Given the description of an element on the screen output the (x, y) to click on. 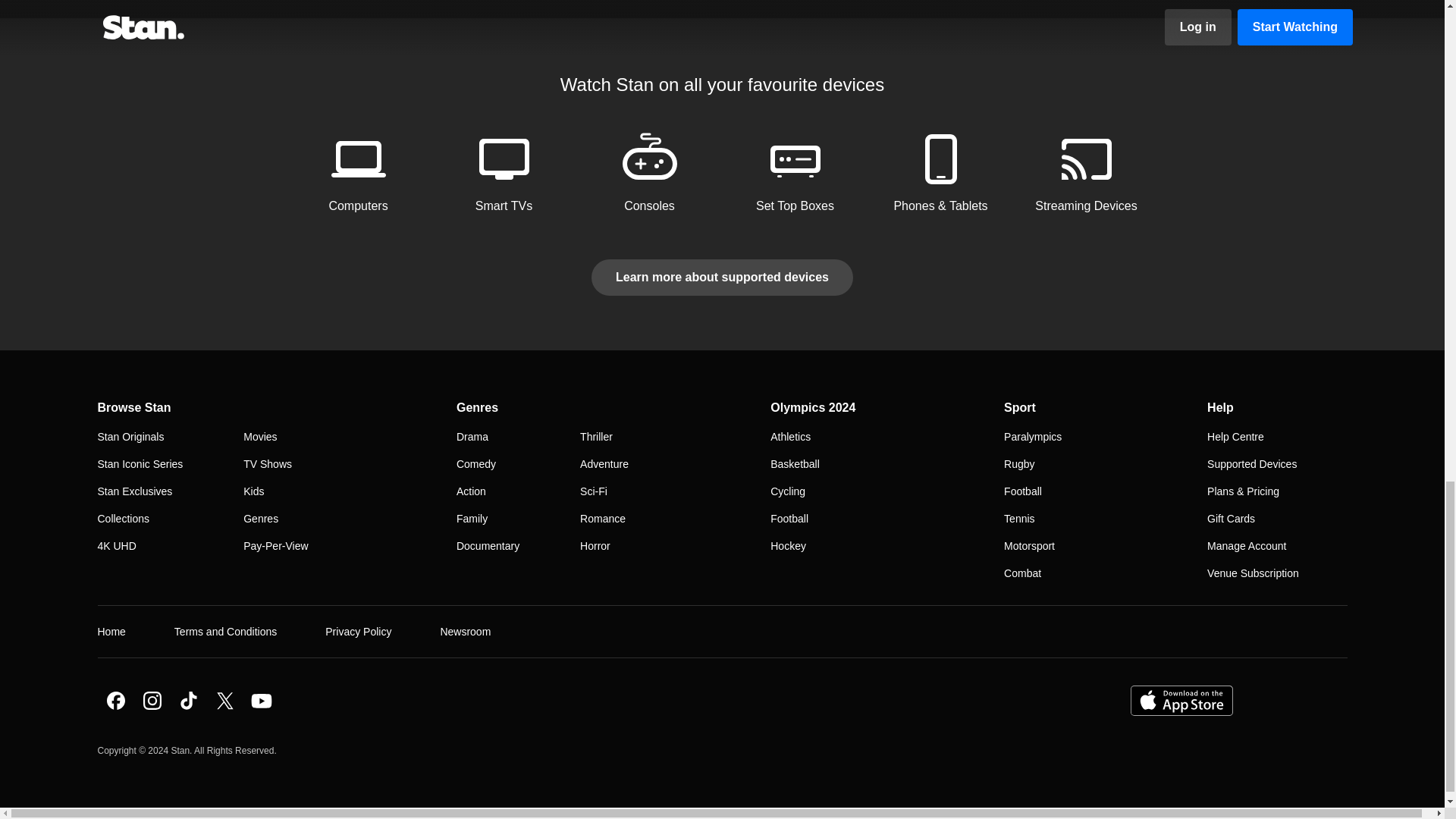
TV Shows (267, 463)
4K UHD (116, 544)
Movies (259, 435)
Stan Iconic Series (140, 463)
Collections (122, 517)
Learn more about supported devices (722, 276)
Stan Exclusives (134, 490)
Browse Stan (133, 407)
Stan Originals (130, 435)
